Given the description of an element on the screen output the (x, y) to click on. 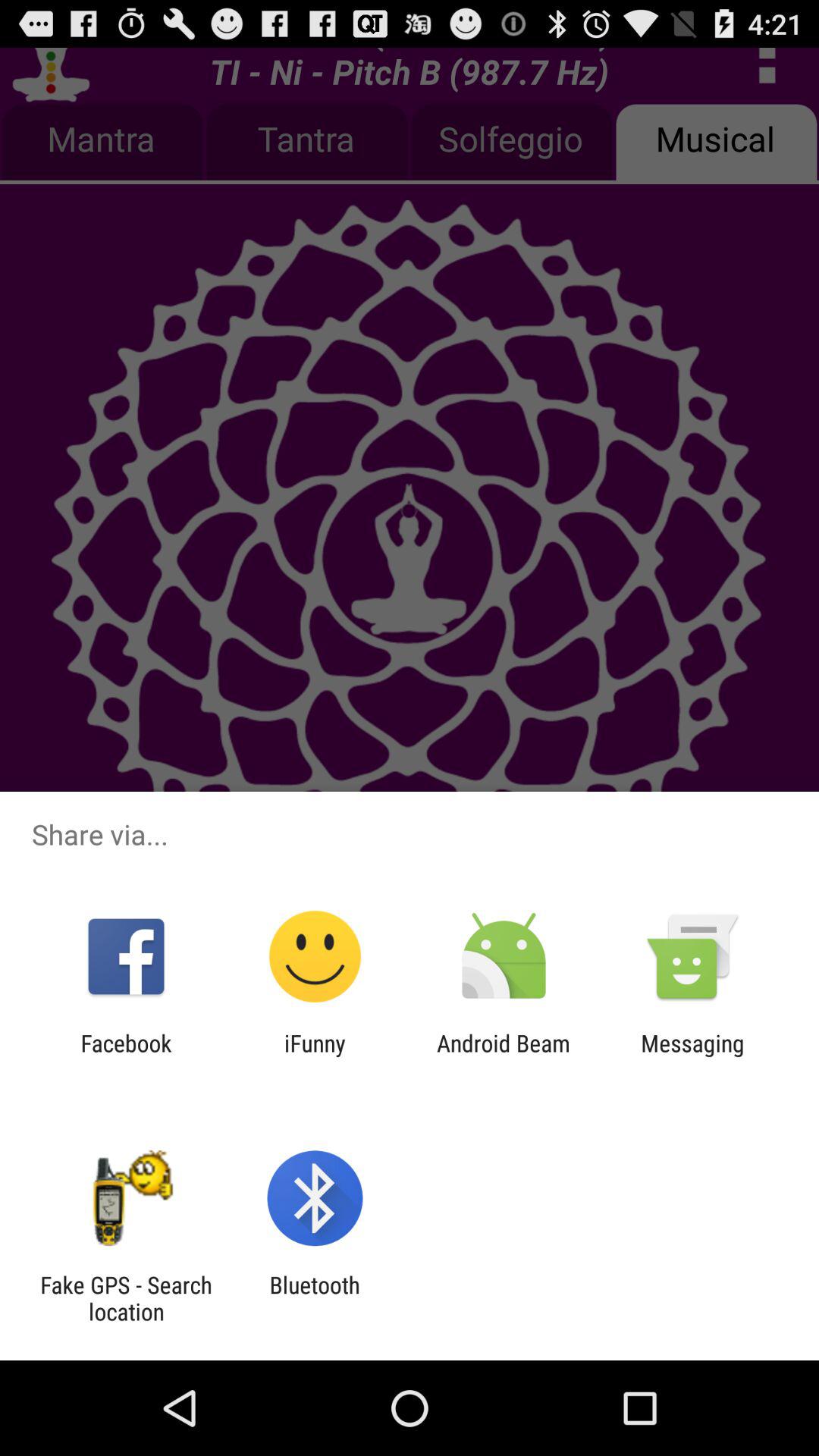
press item next to the android beam icon (692, 1056)
